Given the description of an element on the screen output the (x, y) to click on. 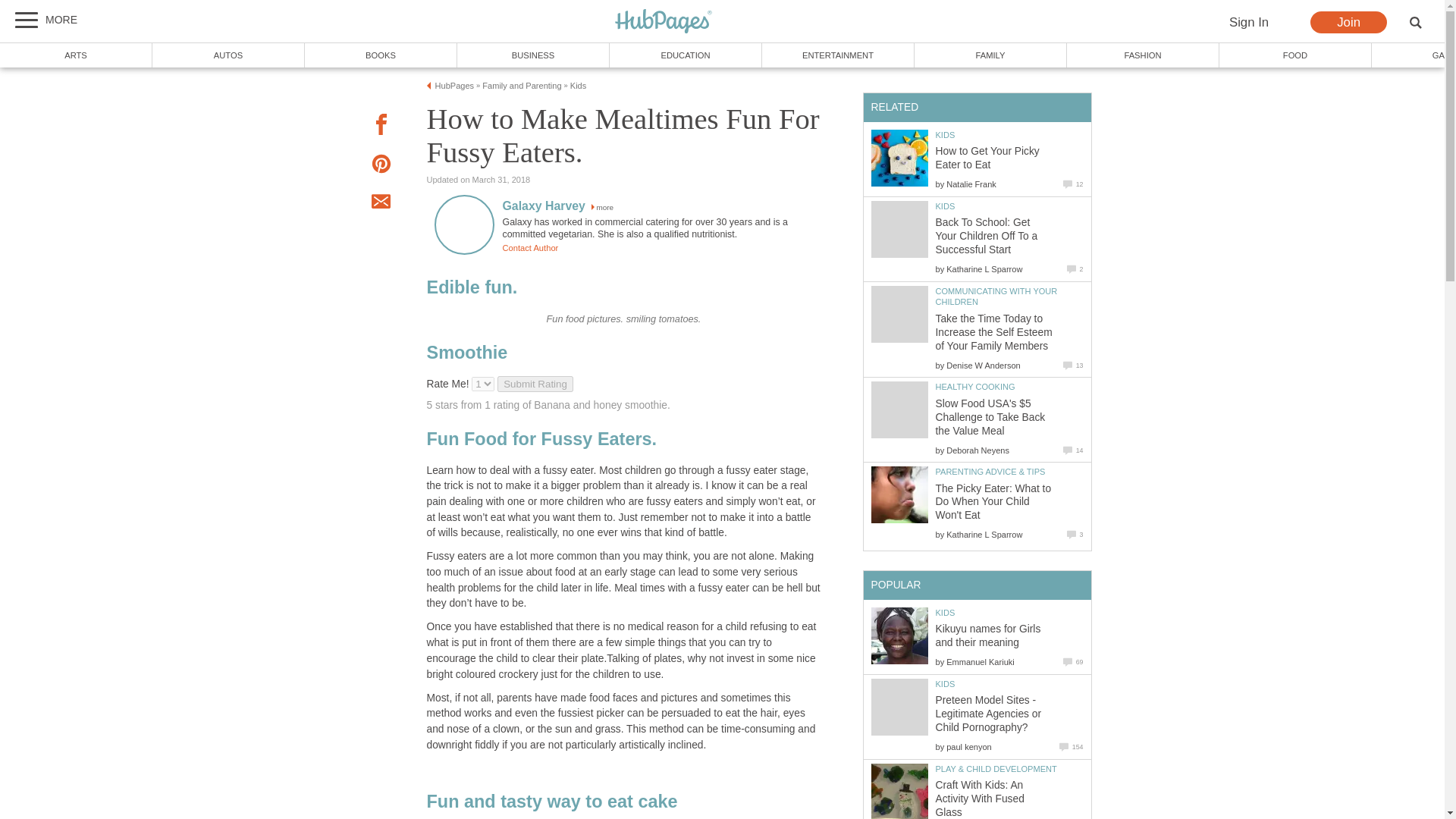
FOOD (1295, 55)
Contact Author (529, 247)
ENTERTAINMENT (837, 55)
Kikuyu names for Girls and their meaning (898, 635)
ARTS (76, 55)
Submit Rating (535, 383)
Average Rating: 5 (499, 384)
The Picky Eater: What to Do When Your Child Won't Eat (898, 494)
How to Get Your Picky Eater to Eat (987, 157)
Family and Parenting (520, 85)
